Given the description of an element on the screen output the (x, y) to click on. 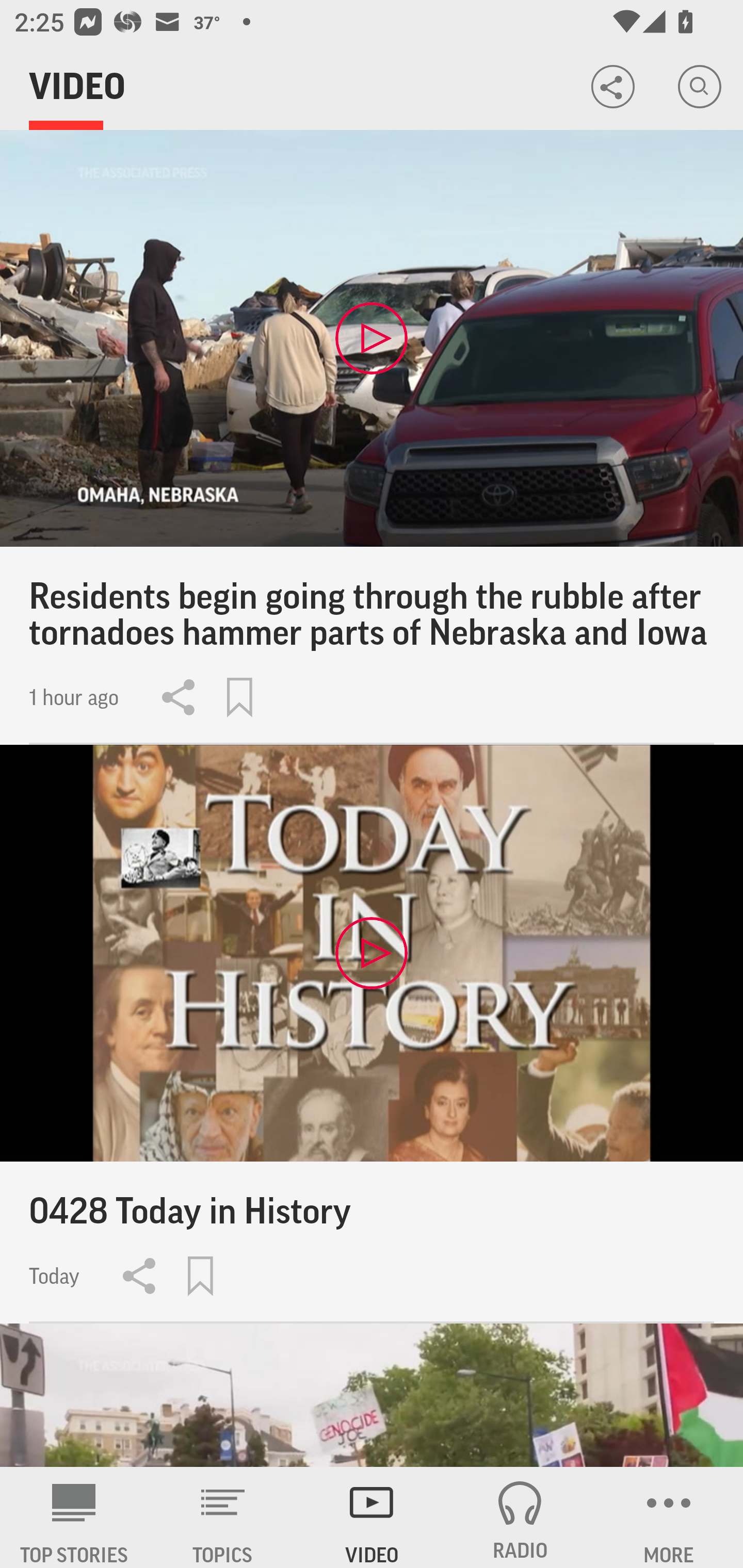
0428 Today in History Today (371, 1033)
AP News TOP STORIES (74, 1517)
TOPICS (222, 1517)
VIDEO (371, 1517)
RADIO (519, 1517)
MORE (668, 1517)
